Given the description of an element on the screen output the (x, y) to click on. 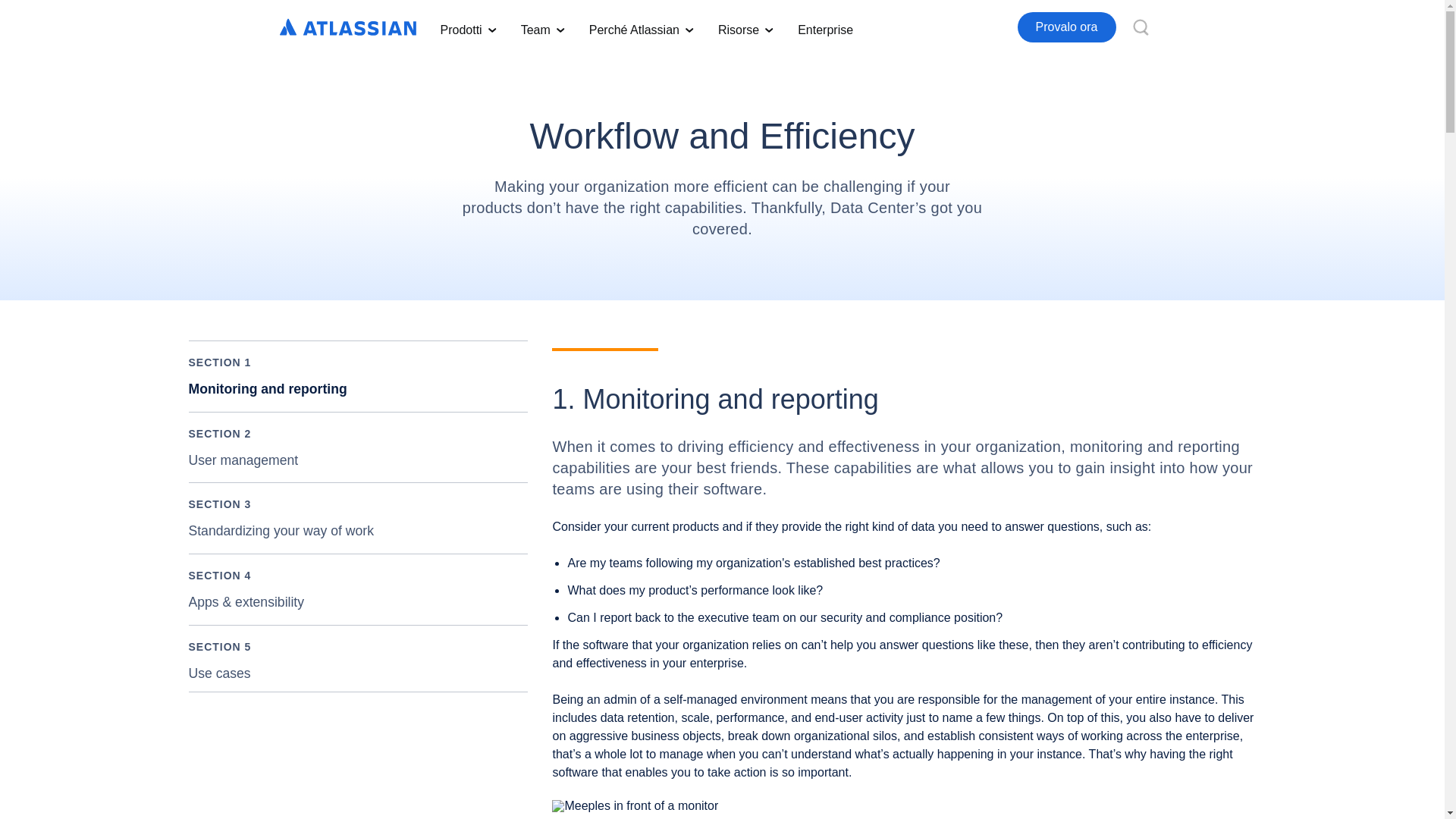
Prodotti (468, 27)
